Given the description of an element on the screen output the (x, y) to click on. 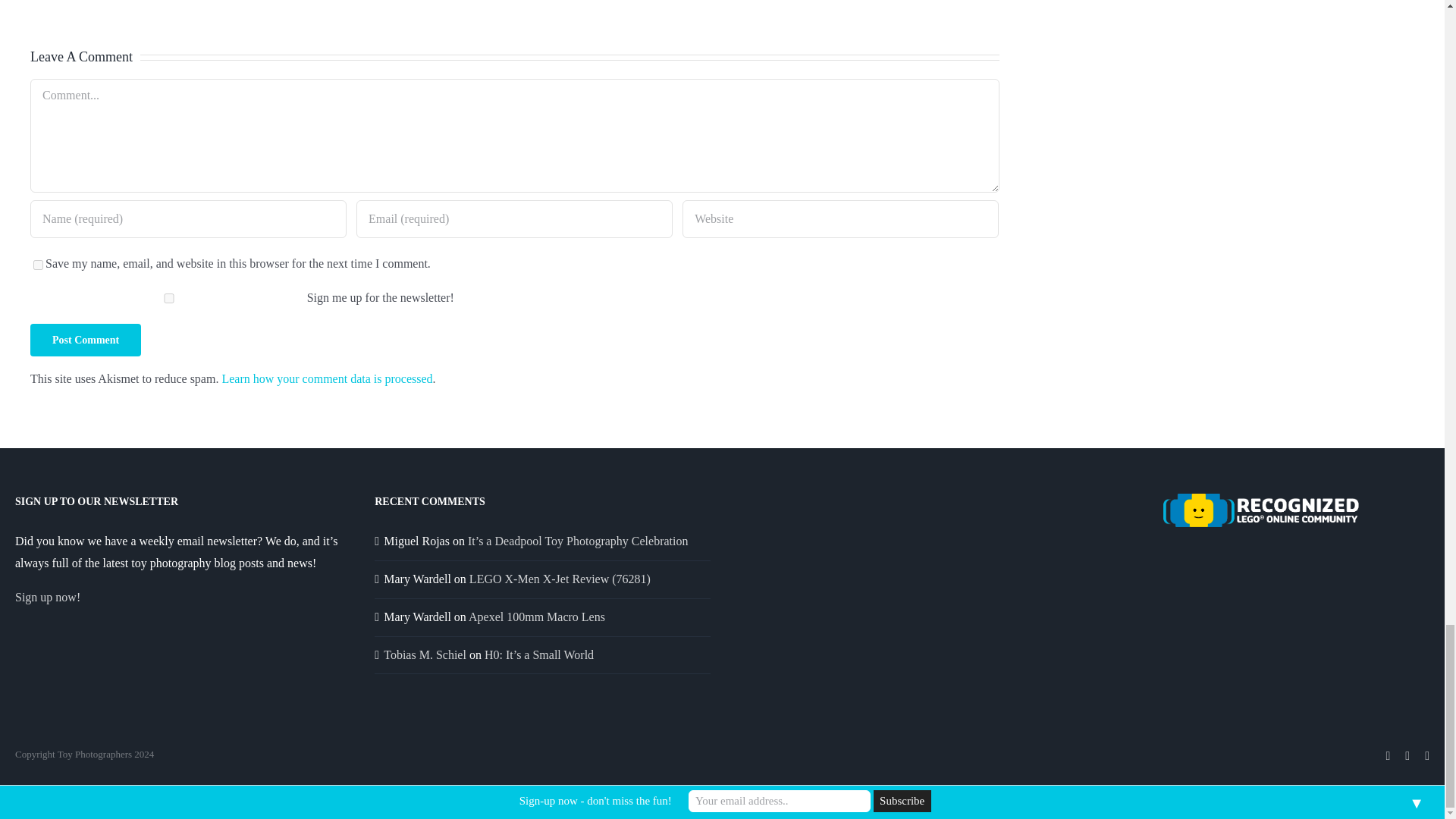
yes (38, 265)
1 (168, 298)
Post Comment (85, 339)
